Given the description of an element on the screen output the (x, y) to click on. 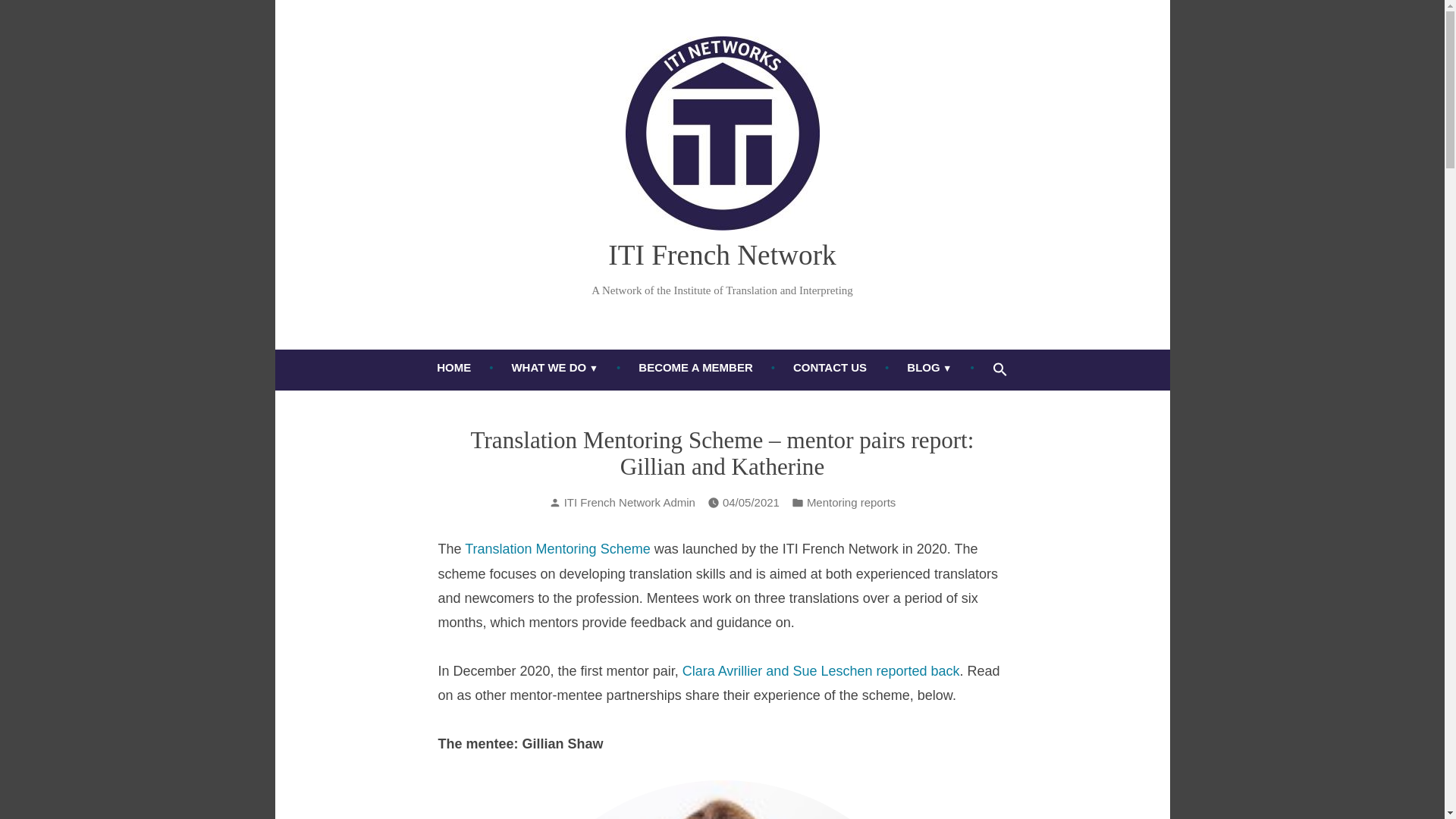
HOME (454, 369)
BLOG (929, 369)
Clara Avrillier and Sue Leschen reported back (820, 670)
CONTACT US (829, 369)
 Translation Mentoring Scheme (555, 548)
ITI French Network (721, 255)
WHAT WE DO (554, 369)
BECOME A MEMBER (695, 369)
ITI French Network Admin (629, 502)
